Given the description of an element on the screen output the (x, y) to click on. 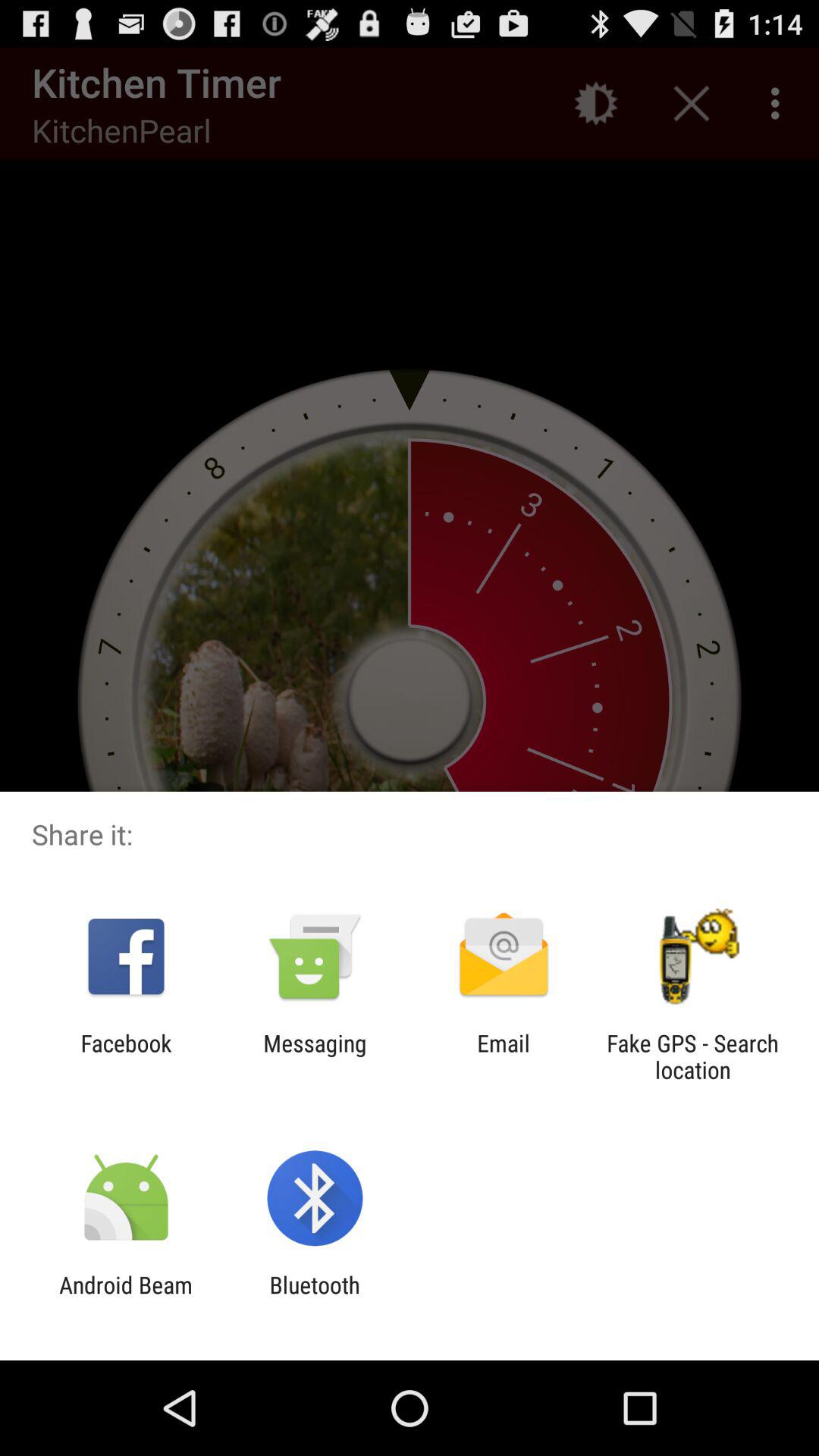
flip to the android beam app (125, 1298)
